Given the description of an element on the screen output the (x, y) to click on. 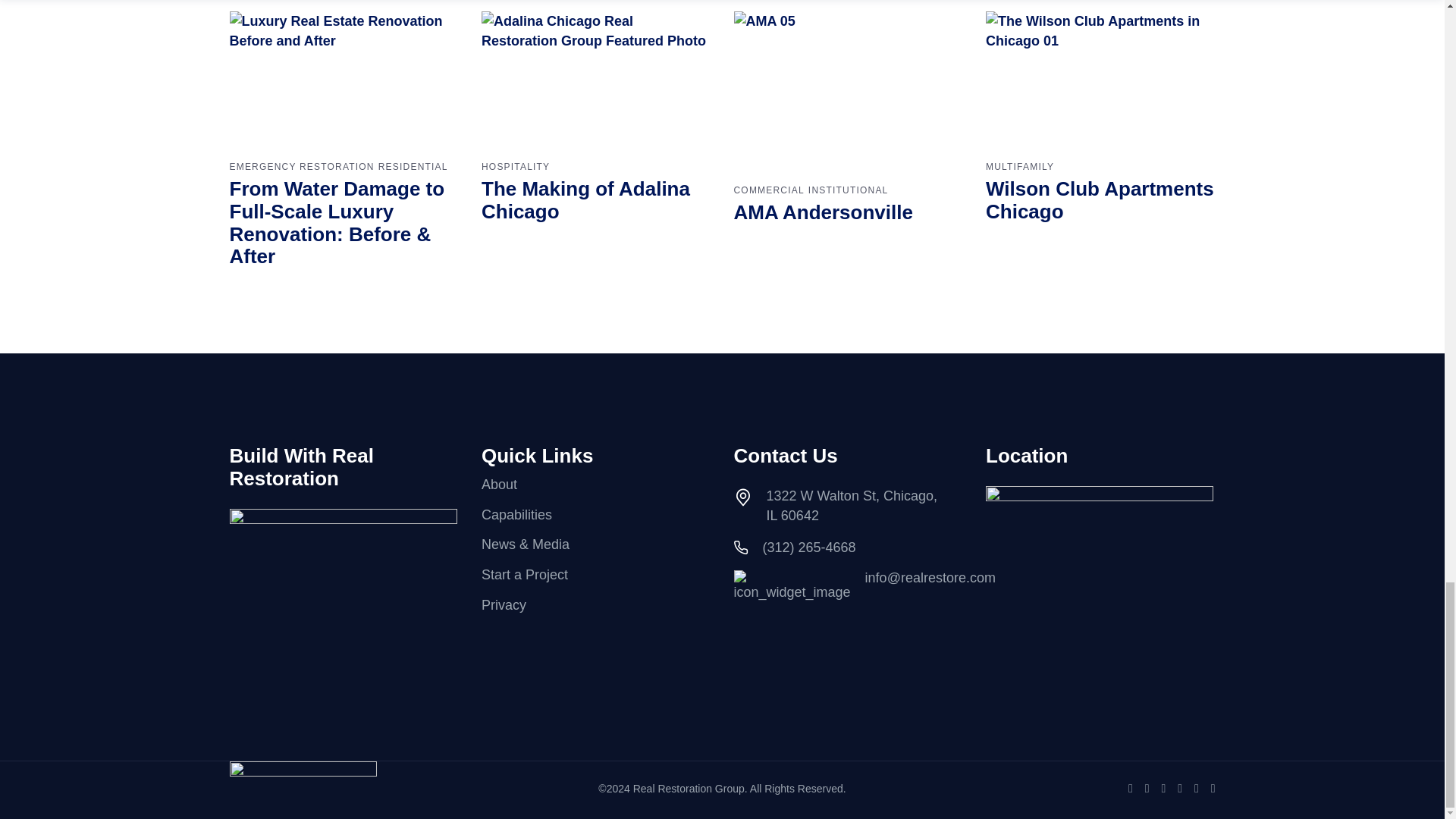
AMA Andersonville 3 (848, 87)
The Making of Adalina Chicago 2 (596, 75)
